Given the description of an element on the screen output the (x, y) to click on. 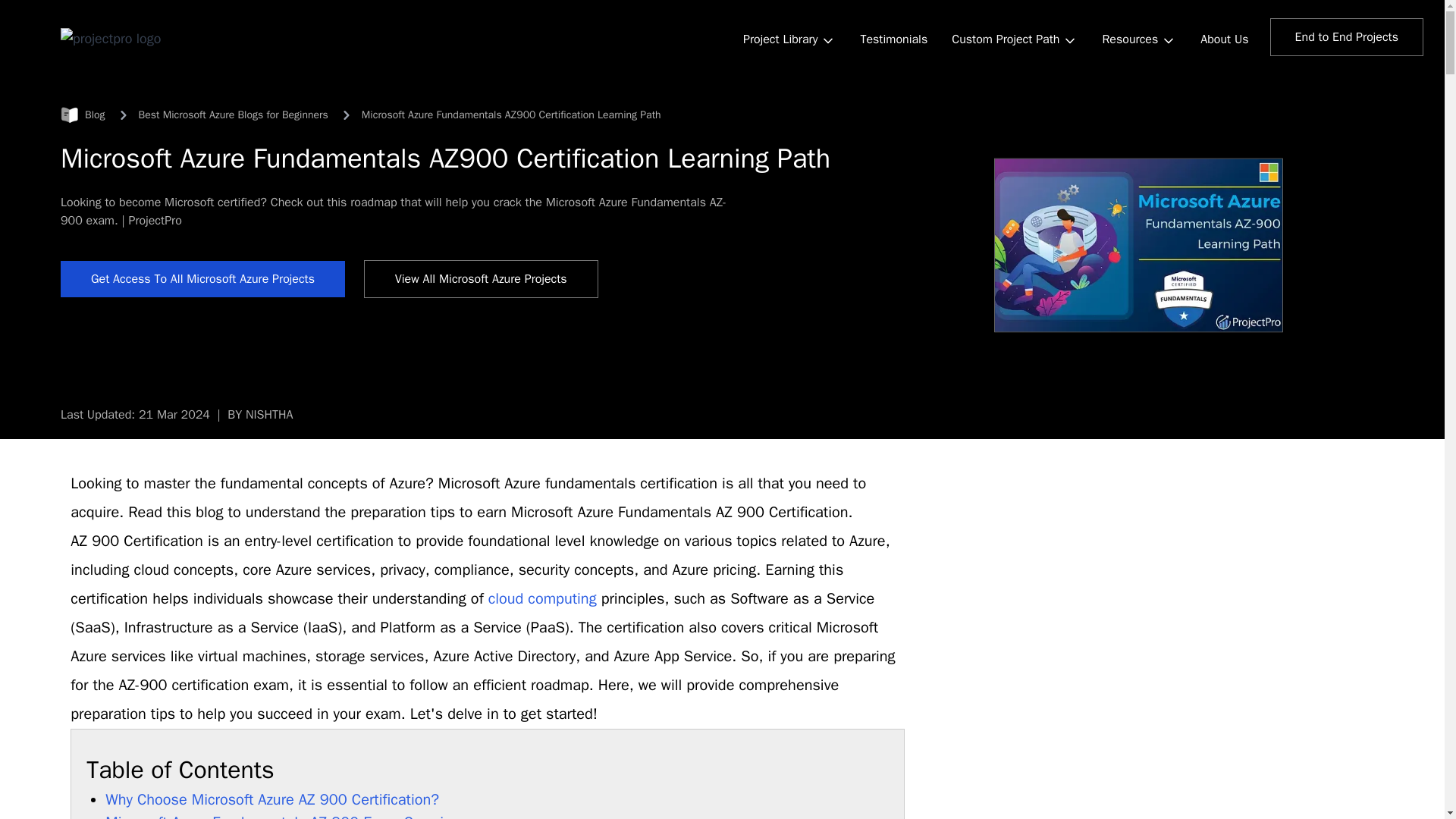
cloud computing (541, 598)
Get Access To All Microsoft Azure Projects (203, 279)
Projects (788, 40)
Testimonials (893, 39)
Why Choose Microsoft Azure AZ 900 Certification?  (274, 799)
Blog (82, 115)
View All Microsoft Azure Projects (481, 279)
End to End Projects (1346, 37)
View all Microsoft Azure Projects (481, 279)
cloud computing (541, 598)
Best Microsoft Azure Blogs for Beginners (233, 114)
Blog (82, 115)
Get access to all Microsoft Azure Projects (203, 279)
projectpro logo (110, 37)
End to End Projects (1346, 37)
